Given the description of an element on the screen output the (x, y) to click on. 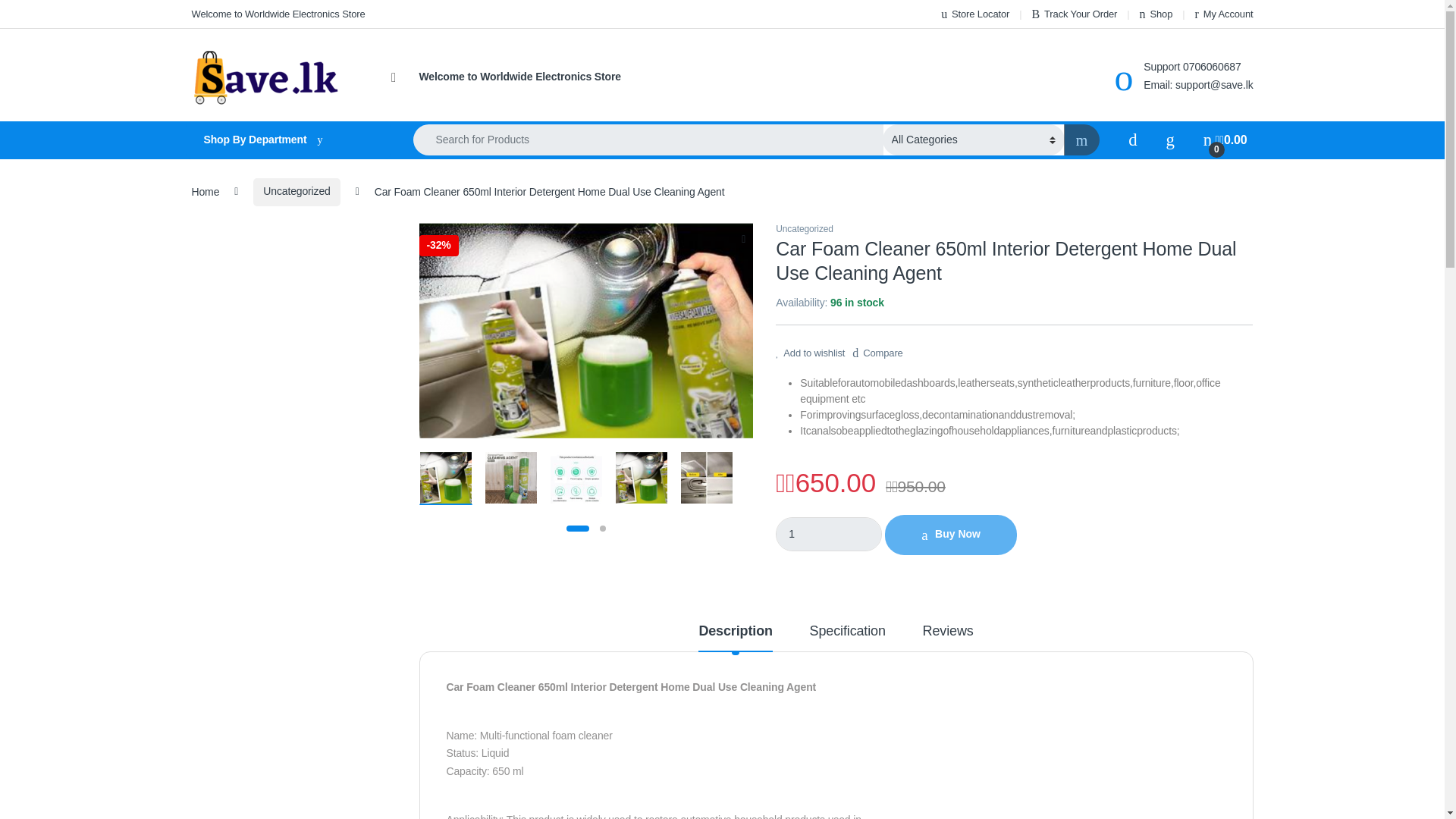
My Account (1224, 13)
1 (829, 533)
Shop (1156, 13)
Welcome to Worldwide Electronics Store (277, 13)
Shop (1156, 13)
Welcome to Worldwide Electronics Store (519, 77)
Store Locator (974, 13)
Welcome to Worldwide Electronics Store (519, 77)
Track Your Order (1073, 13)
Welcome to Worldwide Electronics Store (277, 13)
My Account (1224, 13)
Store Locator (974, 13)
Shop By Department (287, 139)
Track Your Order (1073, 13)
